Given the description of an element on the screen output the (x, y) to click on. 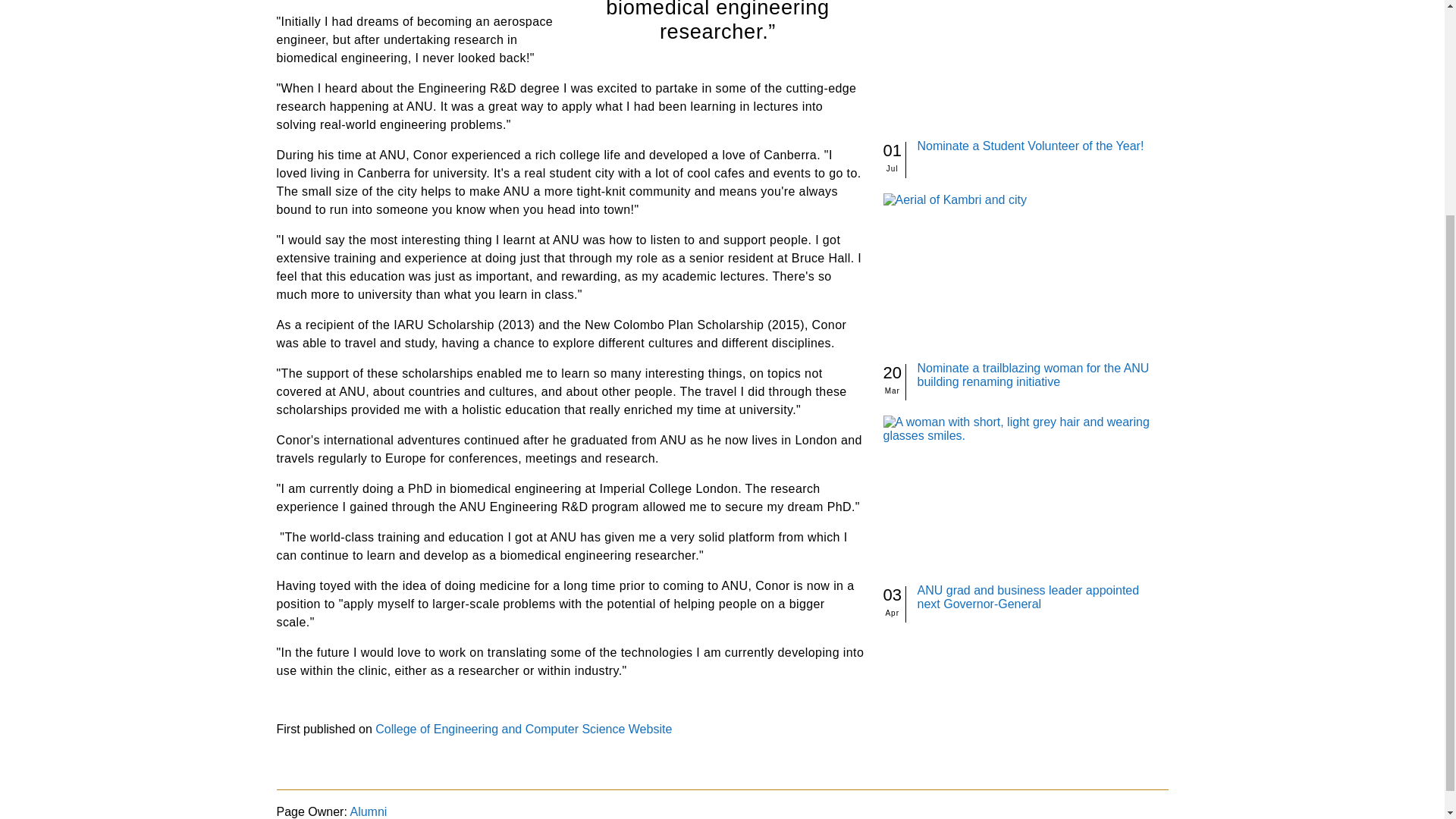
Nominate a Student Volunteer of the Year! (1030, 145)
College of Engineering and Computer Science Website (523, 728)
ANU grad and business leader appointed next Governor-General (1028, 596)
Alumni (368, 811)
